Given the description of an element on the screen output the (x, y) to click on. 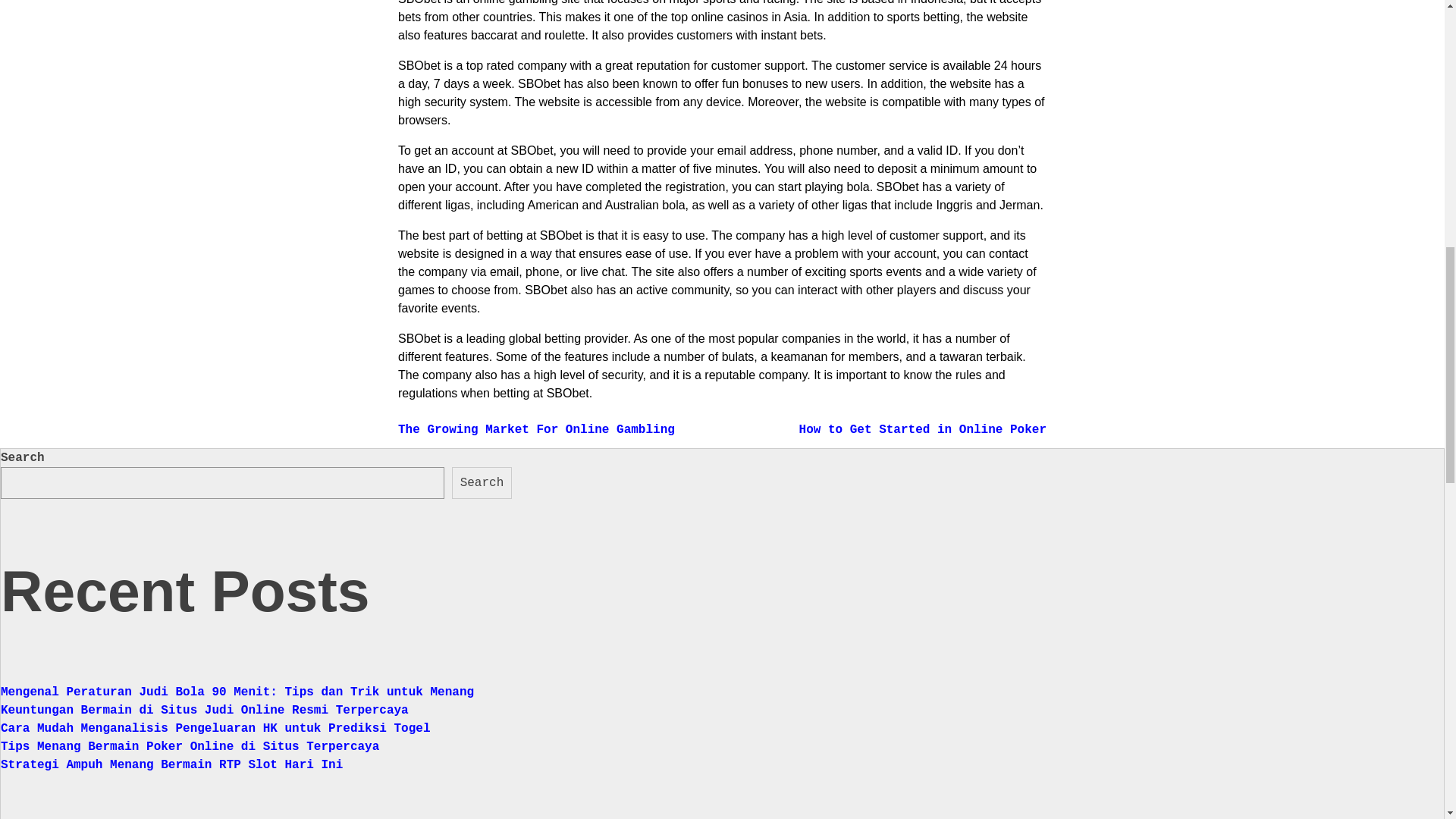
The Growing Market For Online Gambling (536, 429)
Strategi Ampuh Menang Bermain RTP Slot Hari Ini (171, 765)
Cara Mudah Menganalisis Pengeluaran HK untuk Prediksi Togel (215, 728)
Tips Menang Bermain Poker Online di Situs Terpercaya (189, 746)
How to Get Started in Online Poker (922, 429)
Search (481, 482)
Keuntungan Bermain di Situs Judi Online Resmi Terpercaya (205, 710)
